Given the description of an element on the screen output the (x, y) to click on. 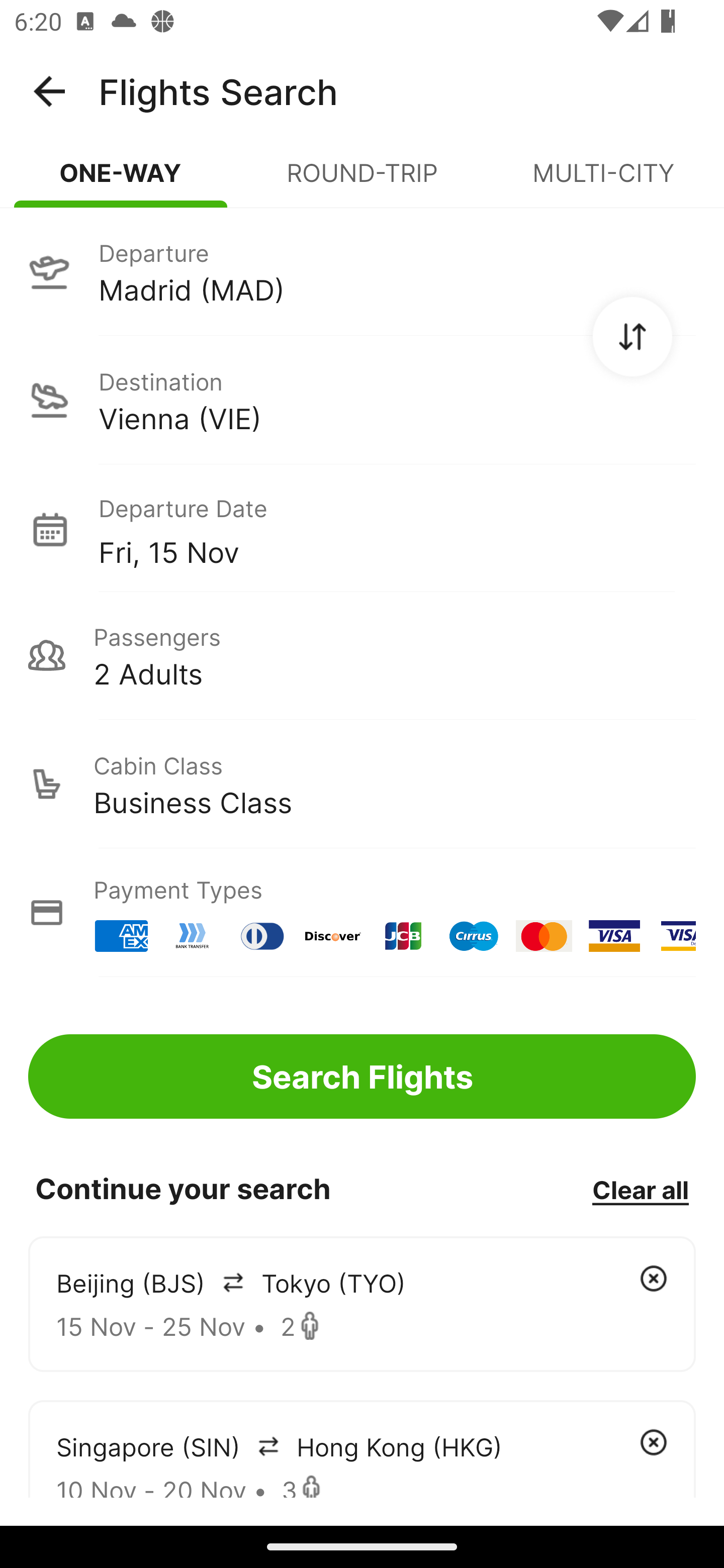
ONE-WAY (120, 180)
ROUND-TRIP (361, 180)
MULTI-CITY (603, 180)
Departure Madrid (MAD) (362, 270)
Destination Vienna (VIE) (362, 400)
Departure Date Fri, 15 Nov (396, 528)
Passengers 2 Adults (362, 655)
Cabin Class Business Class (362, 783)
Payment Types (362, 912)
Search Flights (361, 1075)
Clear all (640, 1189)
